Given the description of an element on the screen output the (x, y) to click on. 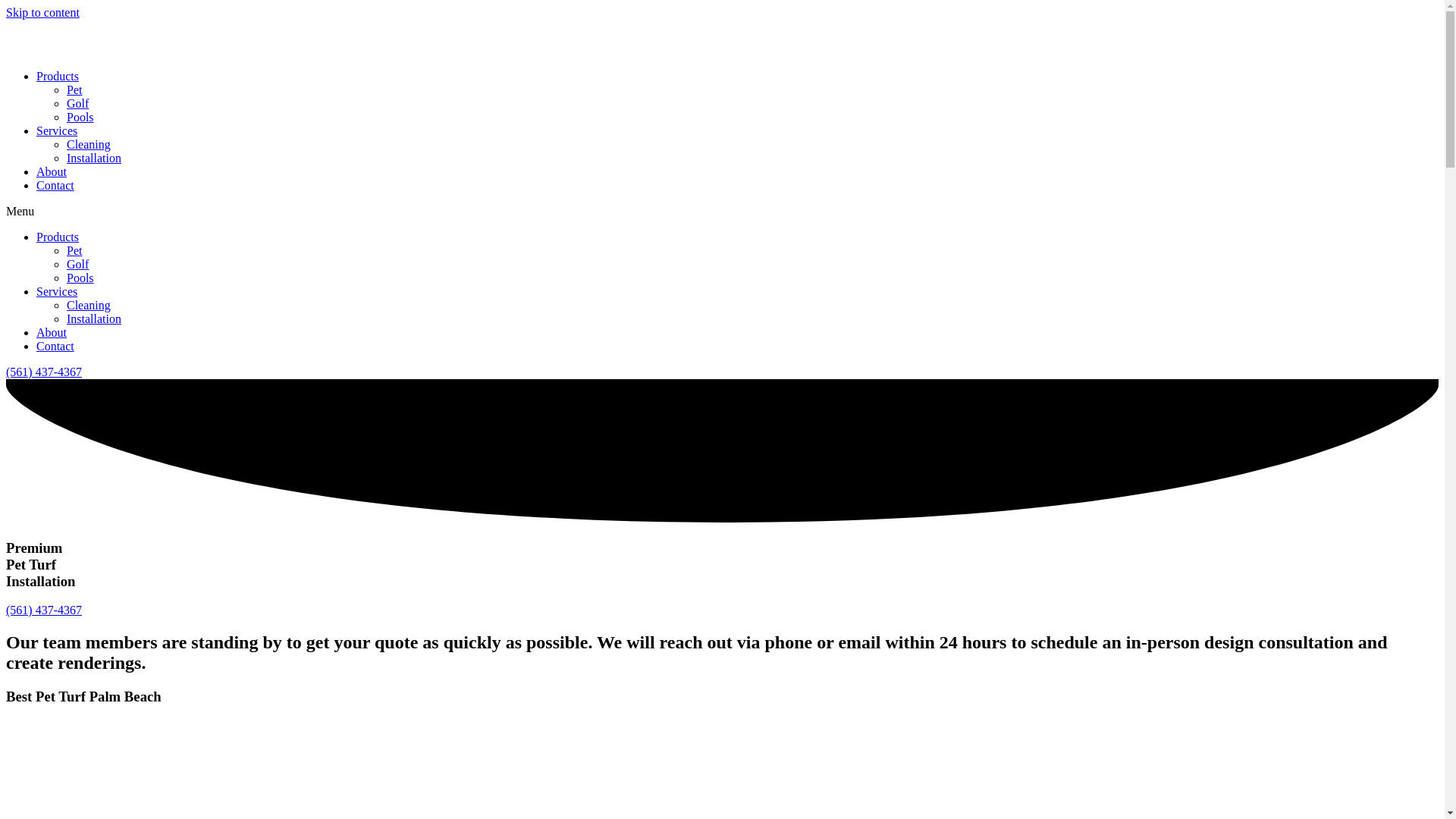
About (51, 332)
Pools (80, 277)
Contact (55, 345)
Pet (73, 250)
Skip to content (42, 11)
Installation (93, 318)
Cleaning (88, 144)
About (51, 171)
Pet (73, 89)
Products (57, 236)
